Given the description of an element on the screen output the (x, y) to click on. 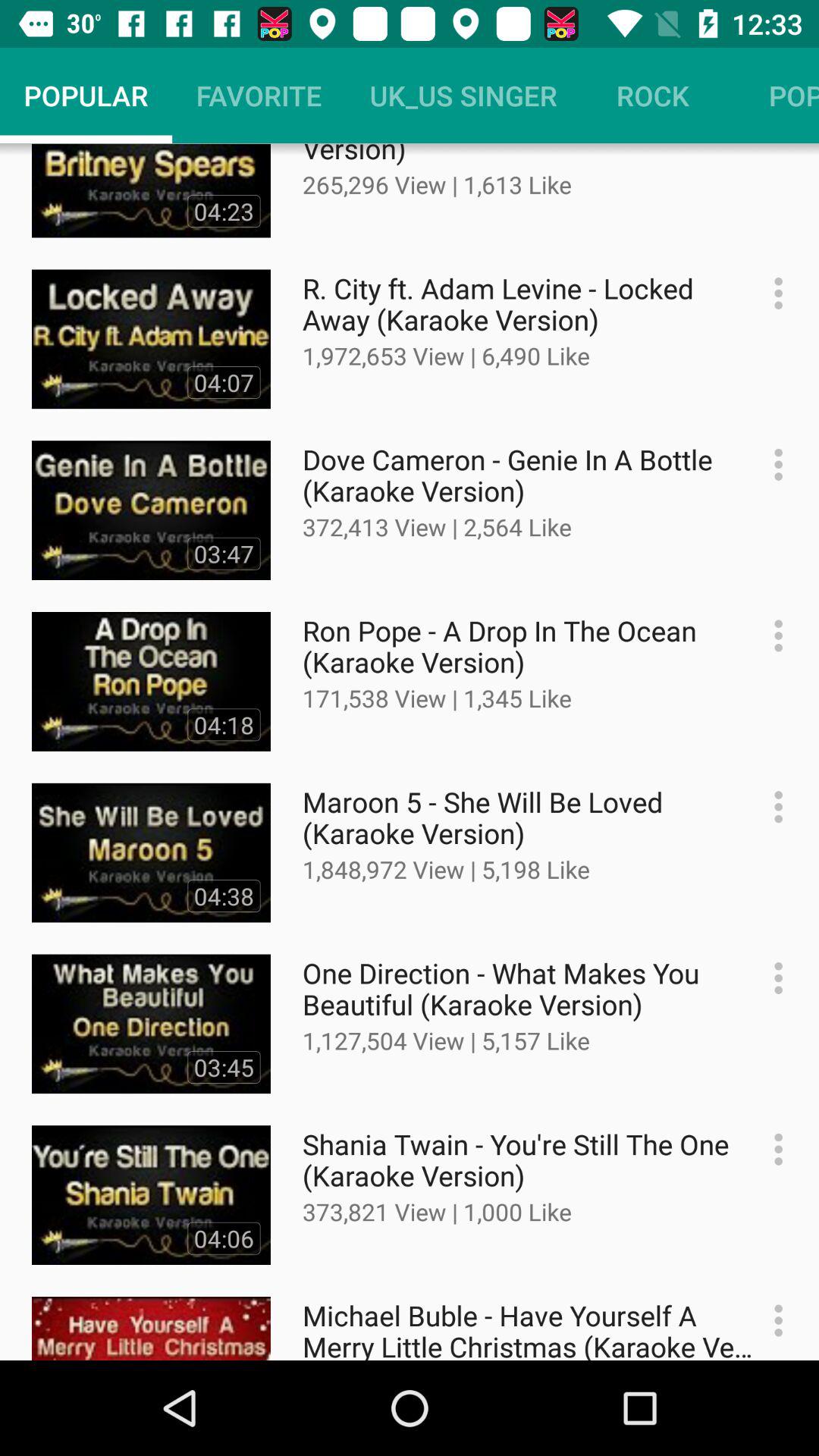
more info (770, 806)
